Given the description of an element on the screen output the (x, y) to click on. 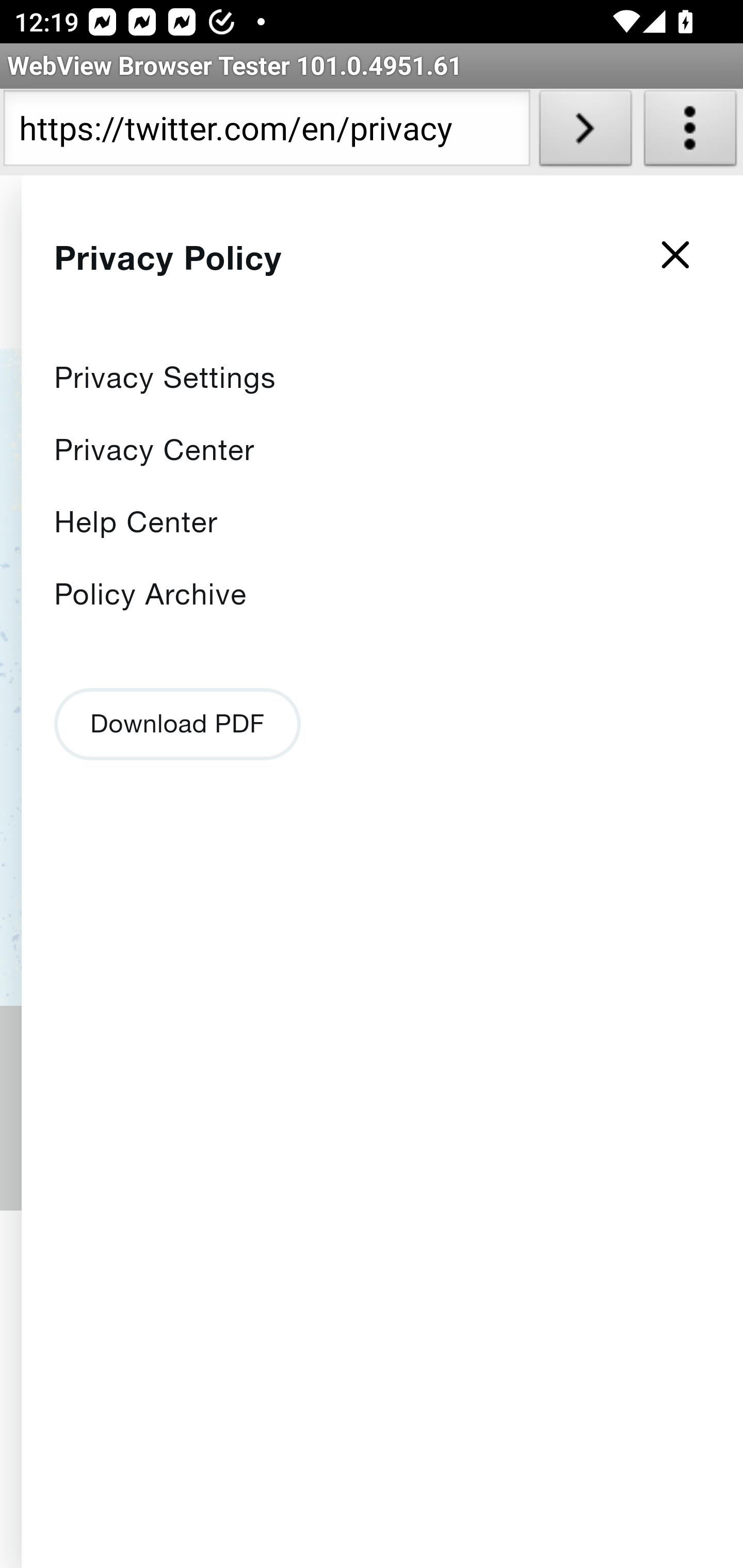
https://twitter.com/en/privacy (266, 132)
Load URL (585, 132)
About WebView (690, 132)
Close menu (675, 259)
Privacy Policy home (222, 272)
Privacy Settings (165, 377)
Privacy Center (155, 448)
Help Center (136, 521)
Policy Archive (150, 593)
Download PDF (177, 723)
